Given the description of an element on the screen output the (x, y) to click on. 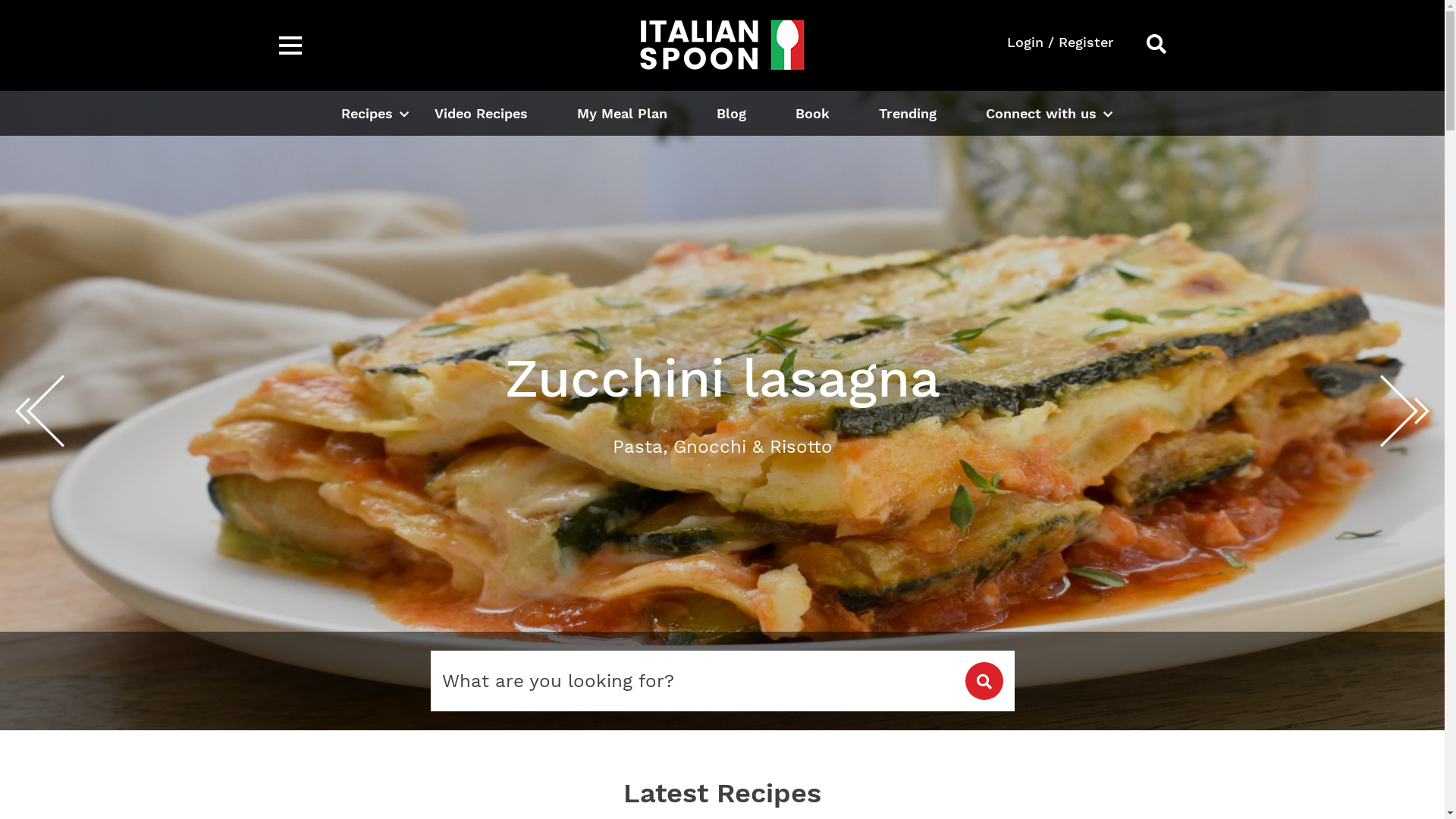
Login / Register Element type: text (1060, 42)
Zucchini lasagna
Pasta, Gnocchi & Risotto Element type: text (722, 401)
Connect with us Element type: text (1040, 113)
Recipes Element type: text (366, 113)
Blog Element type: text (730, 113)
Video Recipes Element type: text (480, 113)
Trending Element type: text (906, 113)
Zucchini lasagna Element type: hover (722, 410)
Book Element type: text (811, 113)
Italian Spoon Element type: hover (721, 44)
My Meal Plan Element type: text (621, 113)
